Given the description of an element on the screen output the (x, y) to click on. 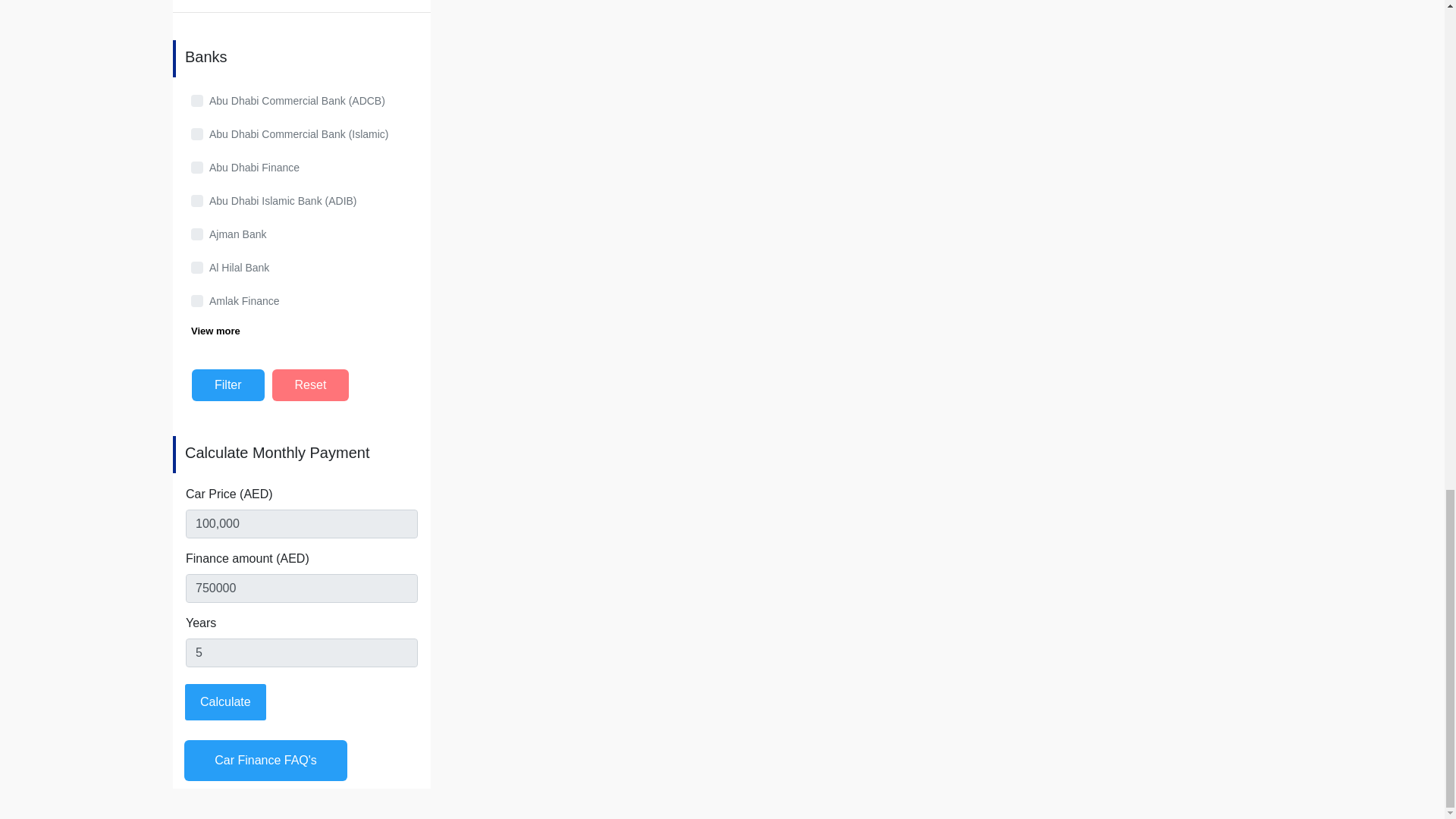
100,000 (301, 522)
Reset (310, 385)
750000 (301, 588)
5 (301, 652)
Calculate (225, 701)
